Given the description of an element on the screen output the (x, y) to click on. 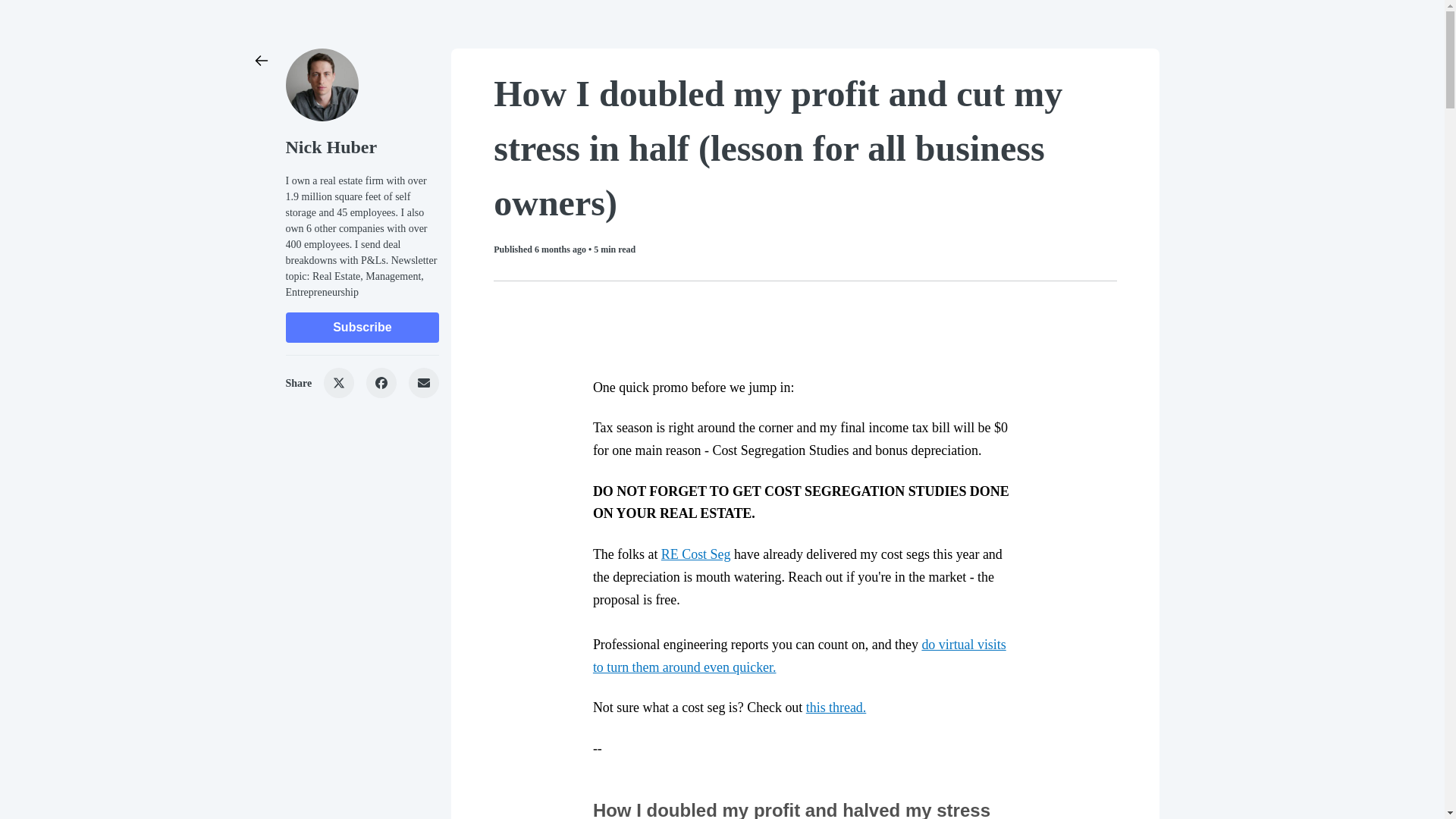
Arrow Left (260, 60)
RE Cost Seg (695, 554)
Subscribe (362, 327)
this thread. (836, 707)
Arrow Left (260, 60)
do virtual visits to turn them around even quicker. (799, 655)
